Given the description of an element on the screen output the (x, y) to click on. 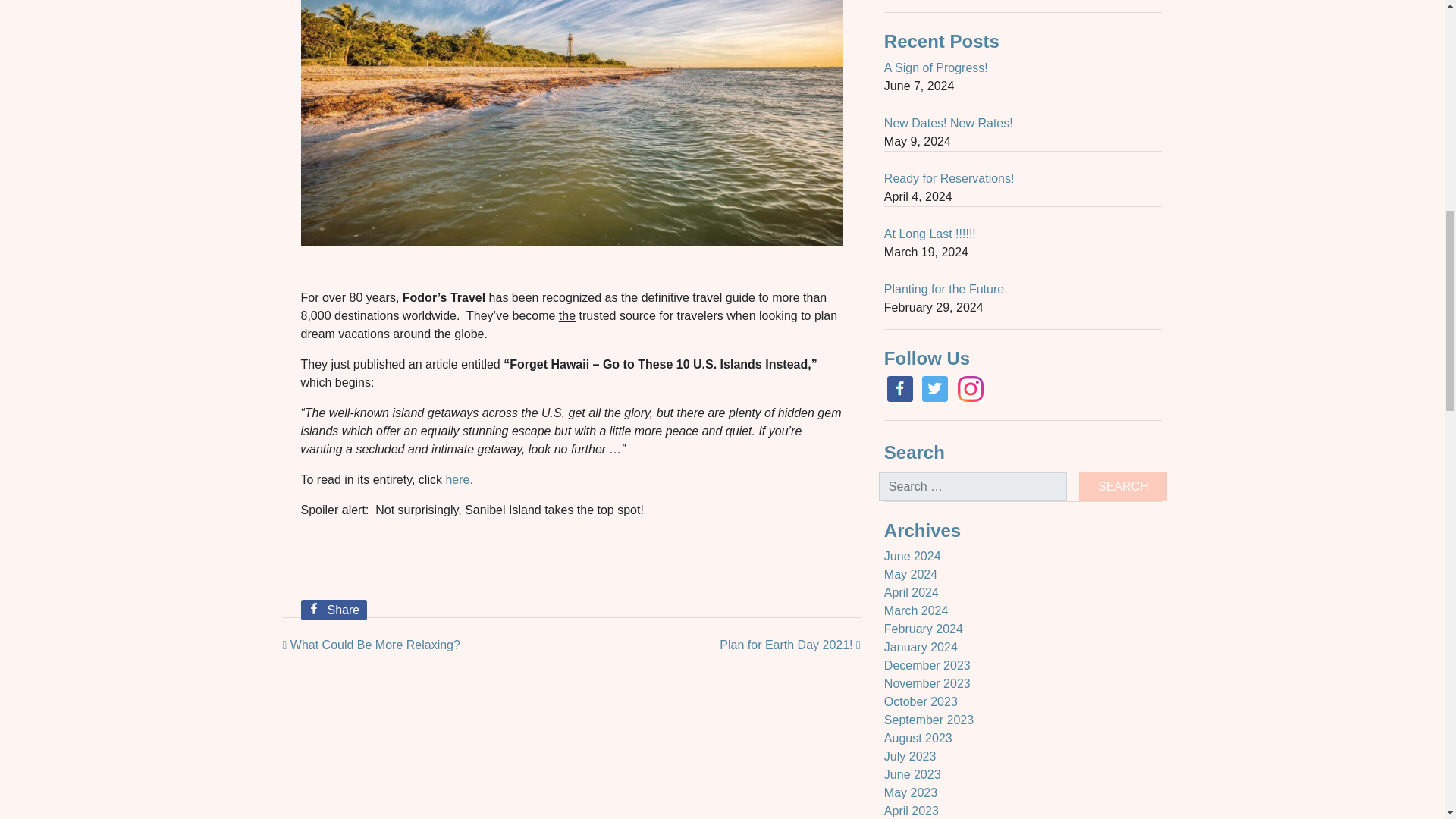
Search (1122, 486)
